Given the description of an element on the screen output the (x, y) to click on. 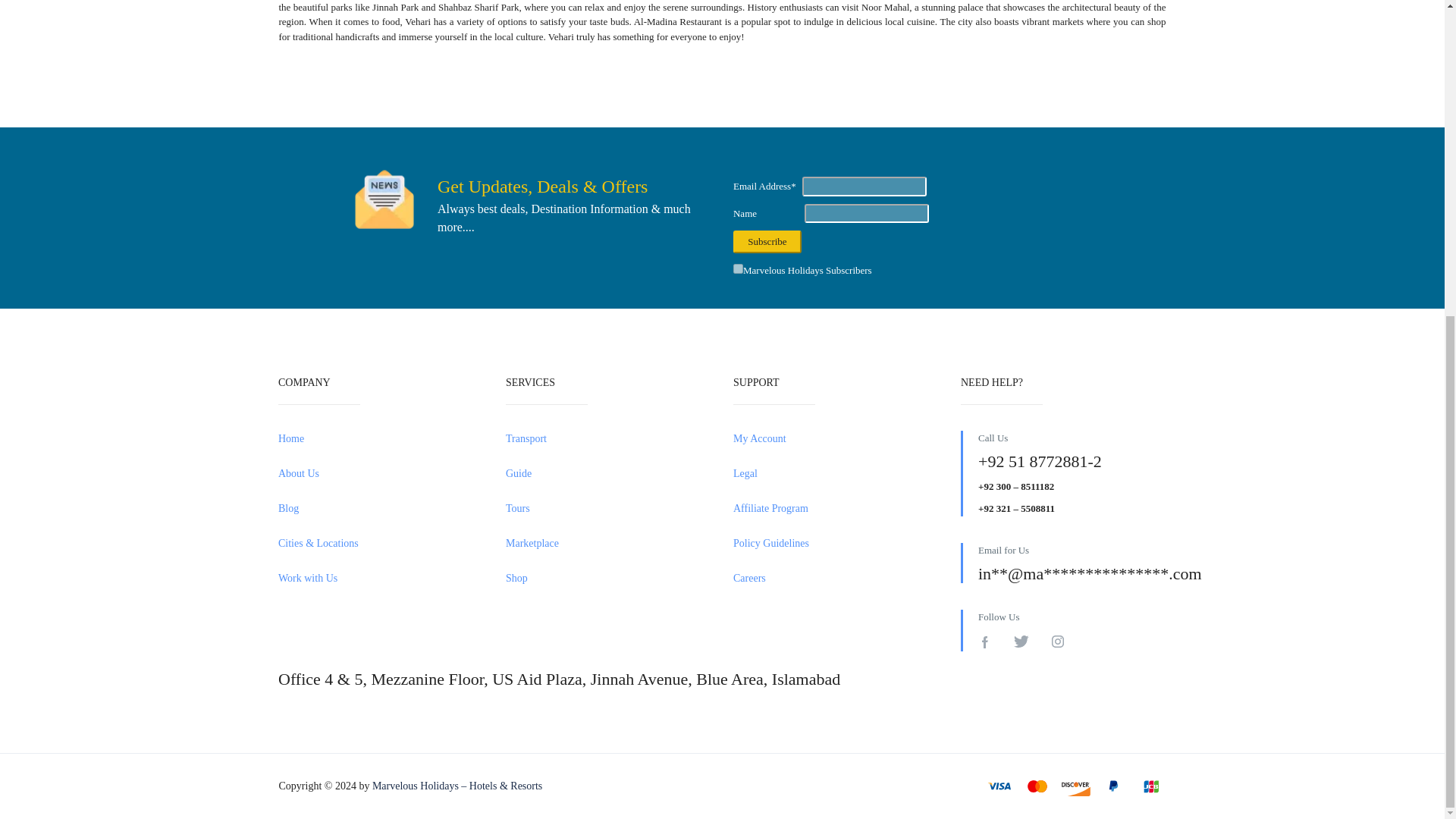
Legal (835, 473)
Policy Guidelines (835, 543)
Careers (835, 578)
Subscribe (767, 241)
My Account (835, 438)
Affiliate Program (835, 508)
Work with Us (380, 578)
Transport (607, 438)
Subscribe (767, 241)
Marketplace (607, 543)
5 (737, 268)
Guide (607, 473)
Blog (380, 508)
Shop (607, 578)
About Us (380, 473)
